Given the description of an element on the screen output the (x, y) to click on. 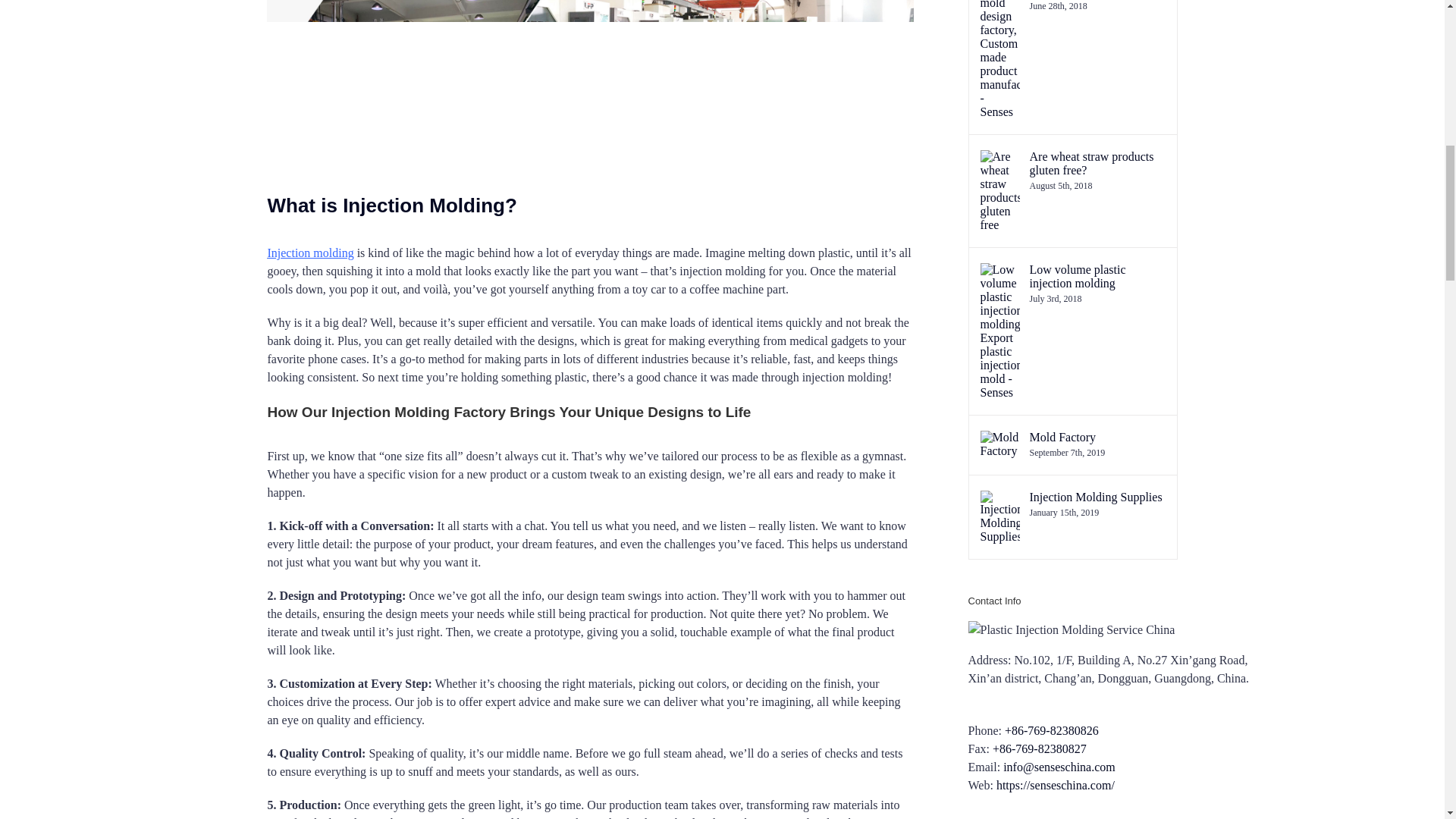
Injection molding (309, 252)
